Given the description of an element on the screen output the (x, y) to click on. 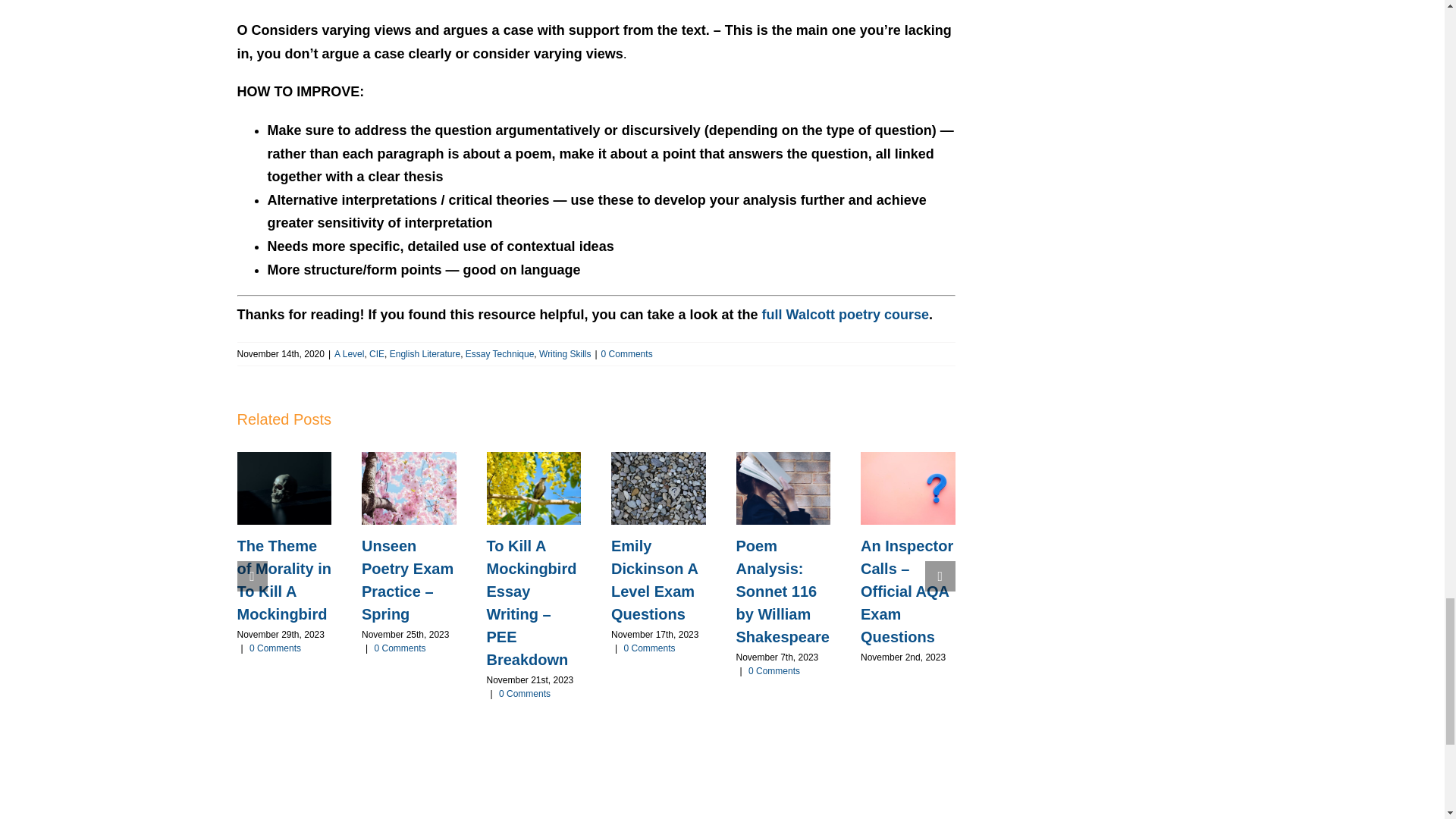
Writing Skills (564, 353)
0 Comments (626, 353)
CIE (376, 353)
Essay Technique (499, 353)
full Walcott poetry course (844, 314)
The Theme of Morality in To Kill A Mockingbird (282, 579)
English Literature (425, 353)
A Level (349, 353)
